Given the description of an element on the screen output the (x, y) to click on. 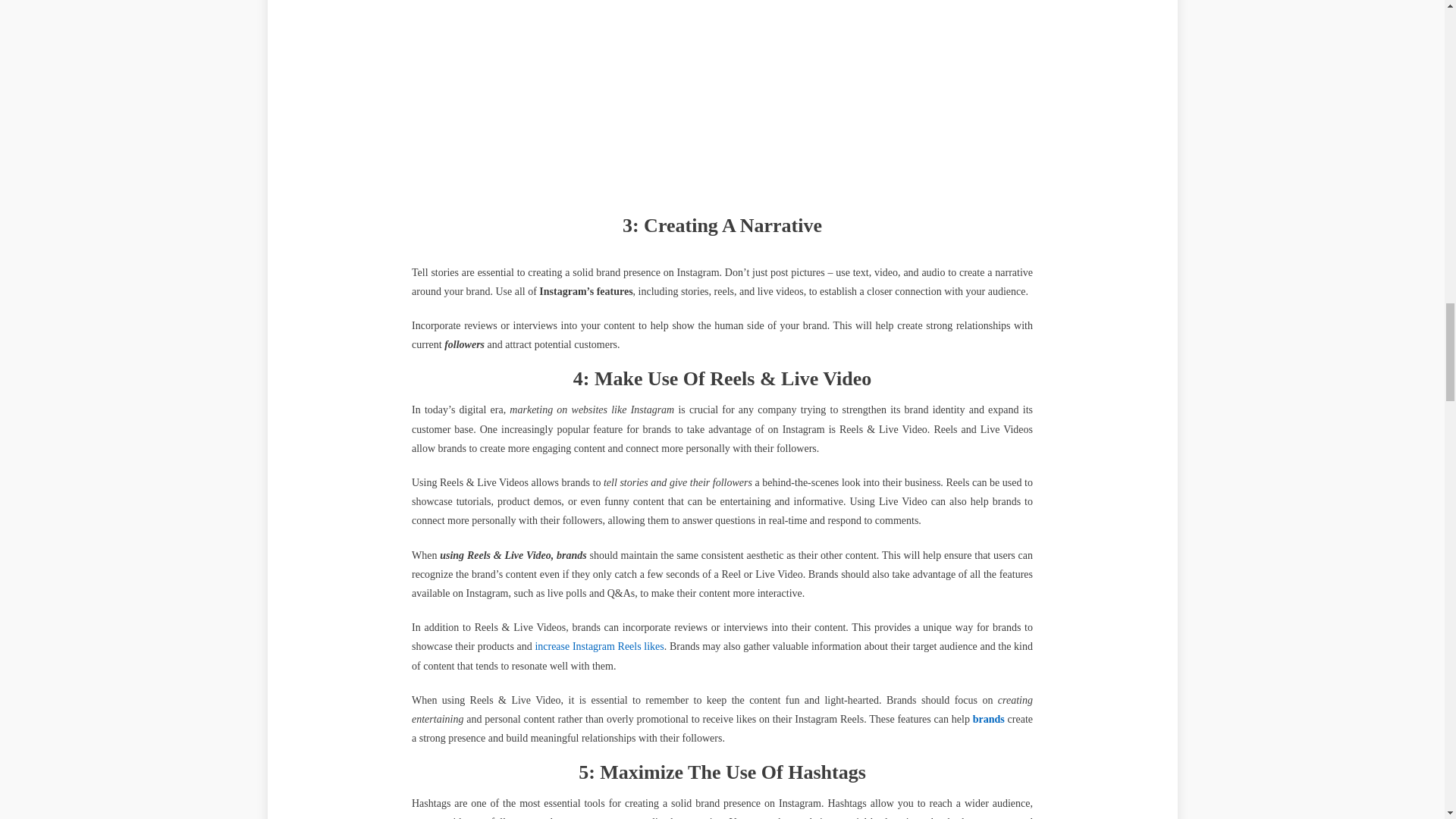
brands (988, 718)
increase Instagram Reels likes (598, 645)
